Given the description of an element on the screen output the (x, y) to click on. 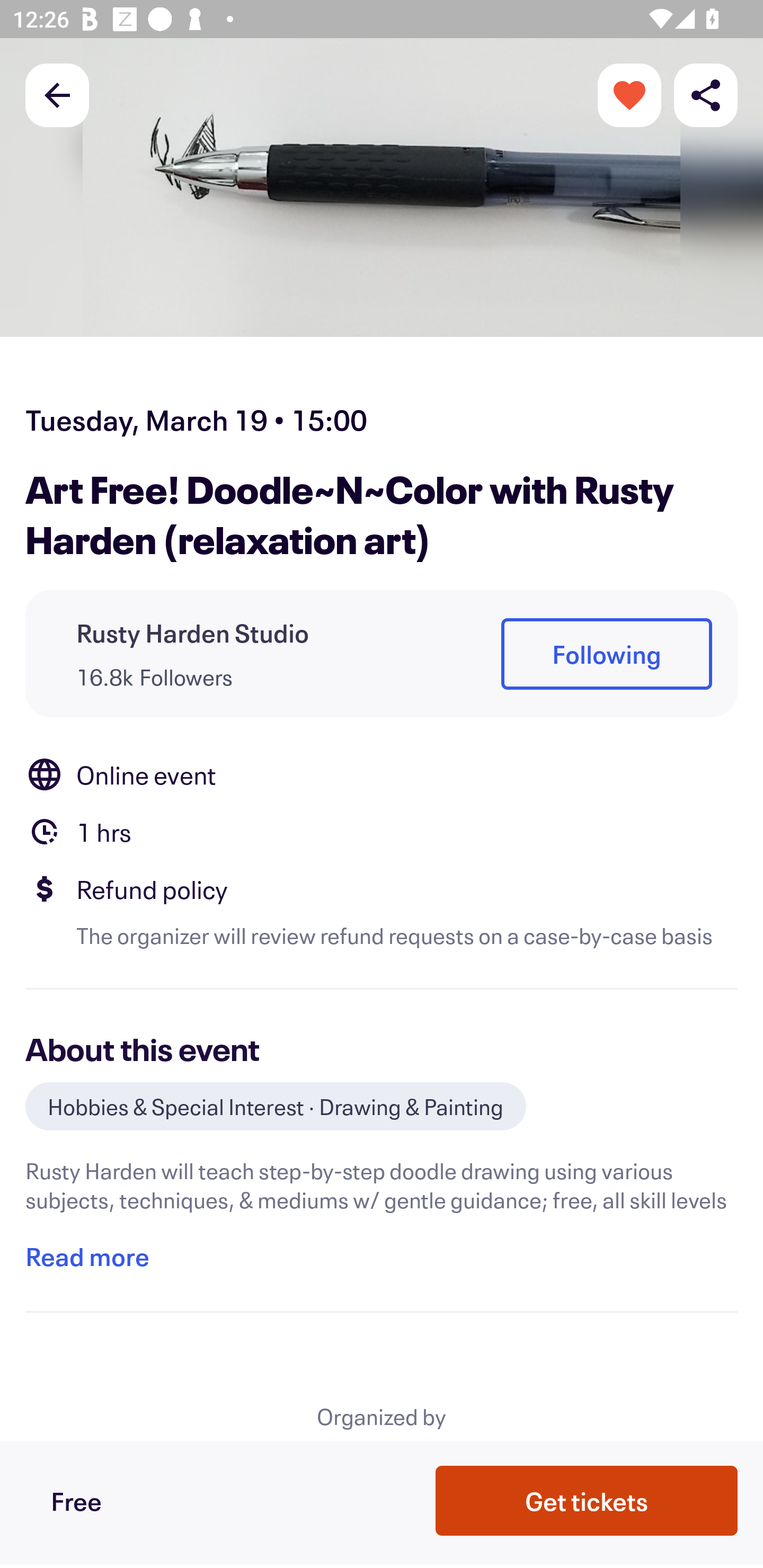
Back (57, 94)
More (629, 94)
Share (705, 94)
Rusty Harden Studio (192, 632)
Following (606, 654)
Location Online event (381, 774)
Read more (87, 1256)
